Given the description of an element on the screen output the (x, y) to click on. 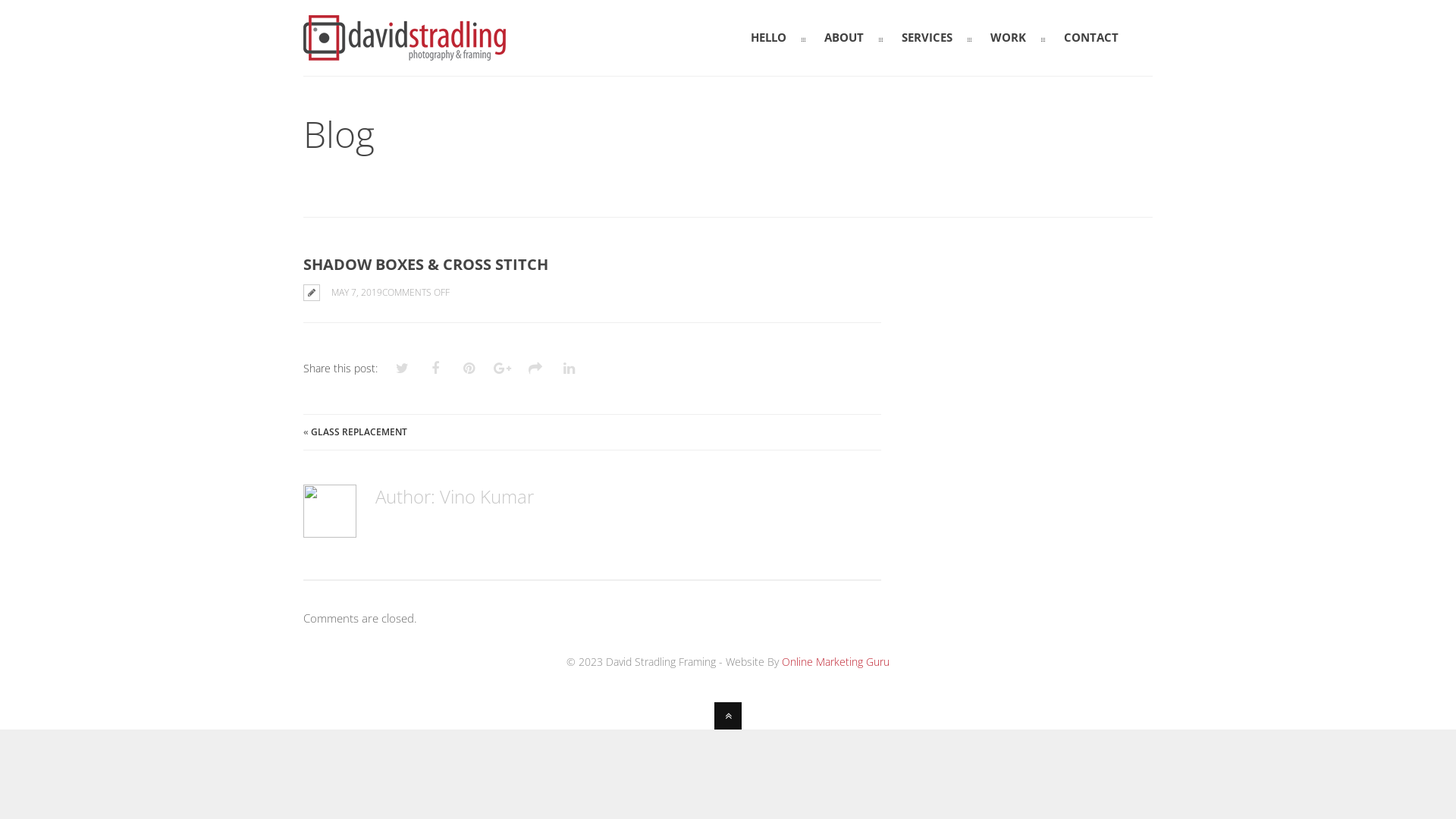
David Stradling Photography & Picture Framing Element type: hover (404, 53)
HELLO Element type: text (768, 39)
WORK Element type: text (1008, 39)
Online Marketing Guru Element type: text (835, 661)
SERVICES Element type: text (926, 39)
CONTACT Element type: text (1090, 39)
ABOUT Element type: text (843, 39)
GLASS REPLACEMENT Element type: text (358, 431)
